Given the description of an element on the screen output the (x, y) to click on. 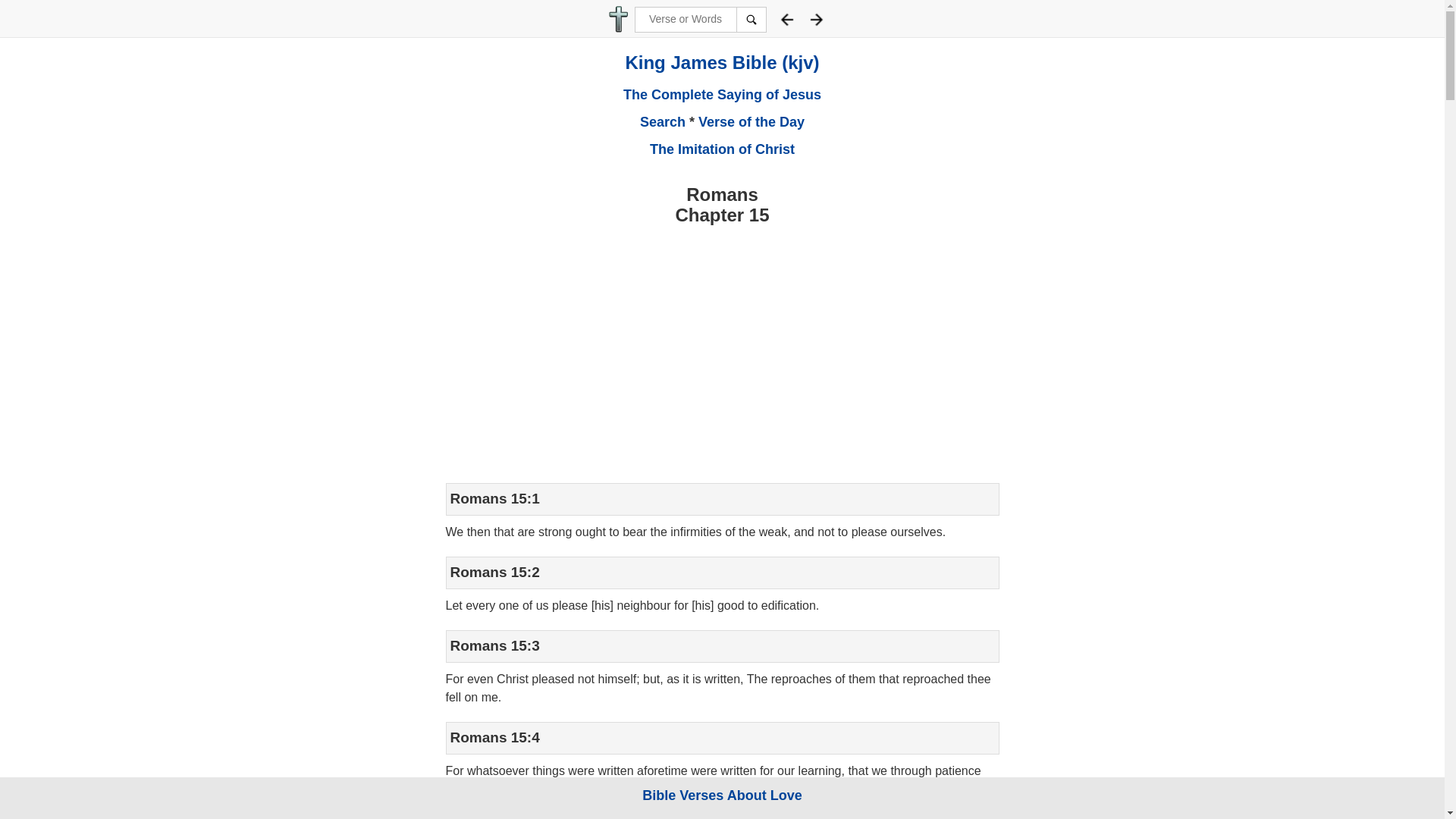
Search (662, 121)
Verse of the Day (751, 121)
search (750, 19)
Advertisement (721, 357)
The Complete Saying of Jesus (722, 94)
The Imitation of Christ (721, 149)
